Given the description of an element on the screen output the (x, y) to click on. 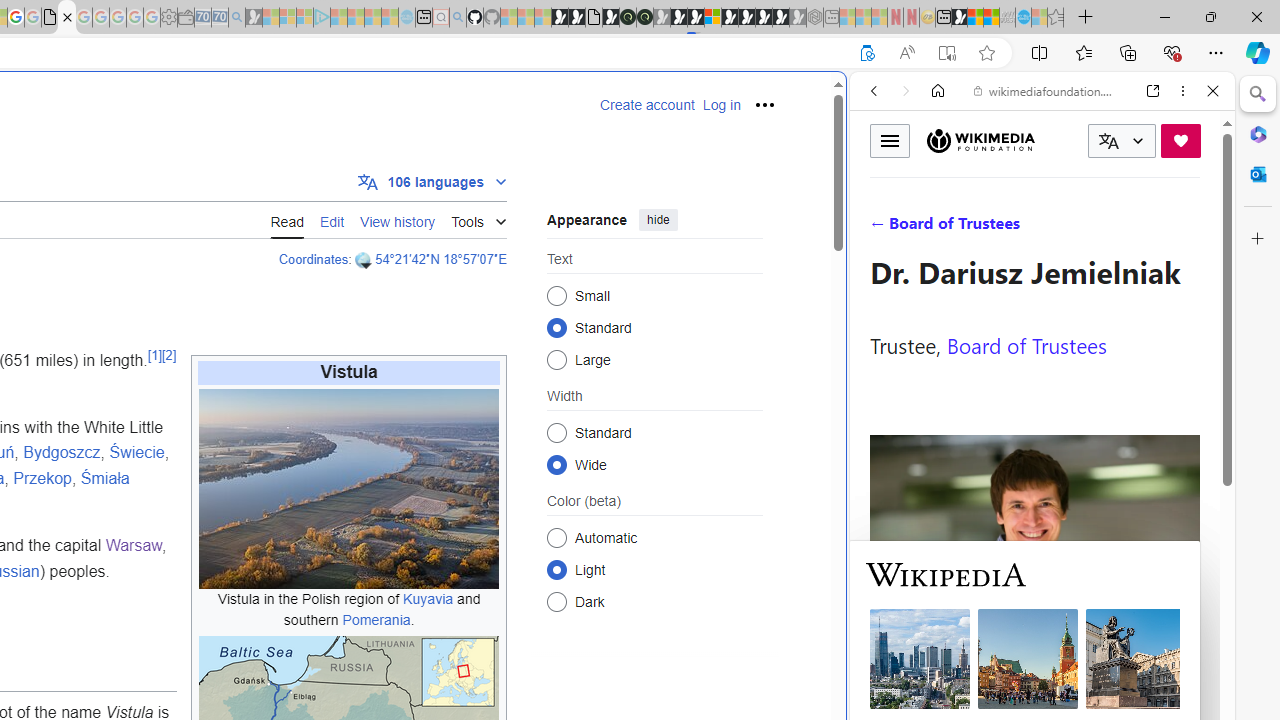
Class: b_serphb (1190, 229)
Light (556, 569)
Microsoft Start - Sleeping (372, 17)
Przekop (41, 477)
Favorites - Sleeping (1055, 17)
Standard (556, 431)
